Given the description of an element on the screen output the (x, y) to click on. 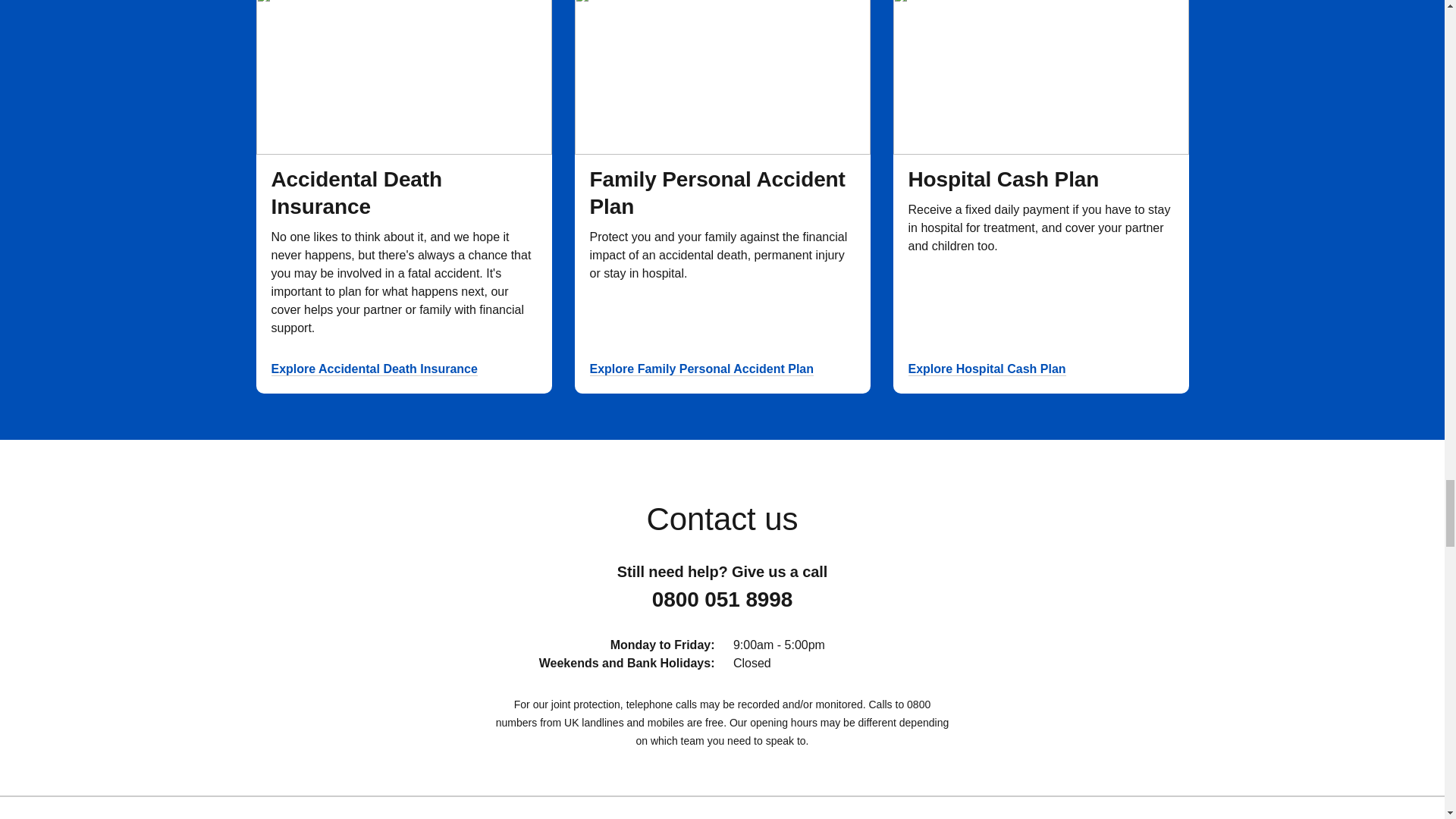
Family Personal Accident Plan (717, 193)
Hospital Cash Plan (1003, 179)
Accidental Death Insurance (356, 193)
